Given the description of an element on the screen output the (x, y) to click on. 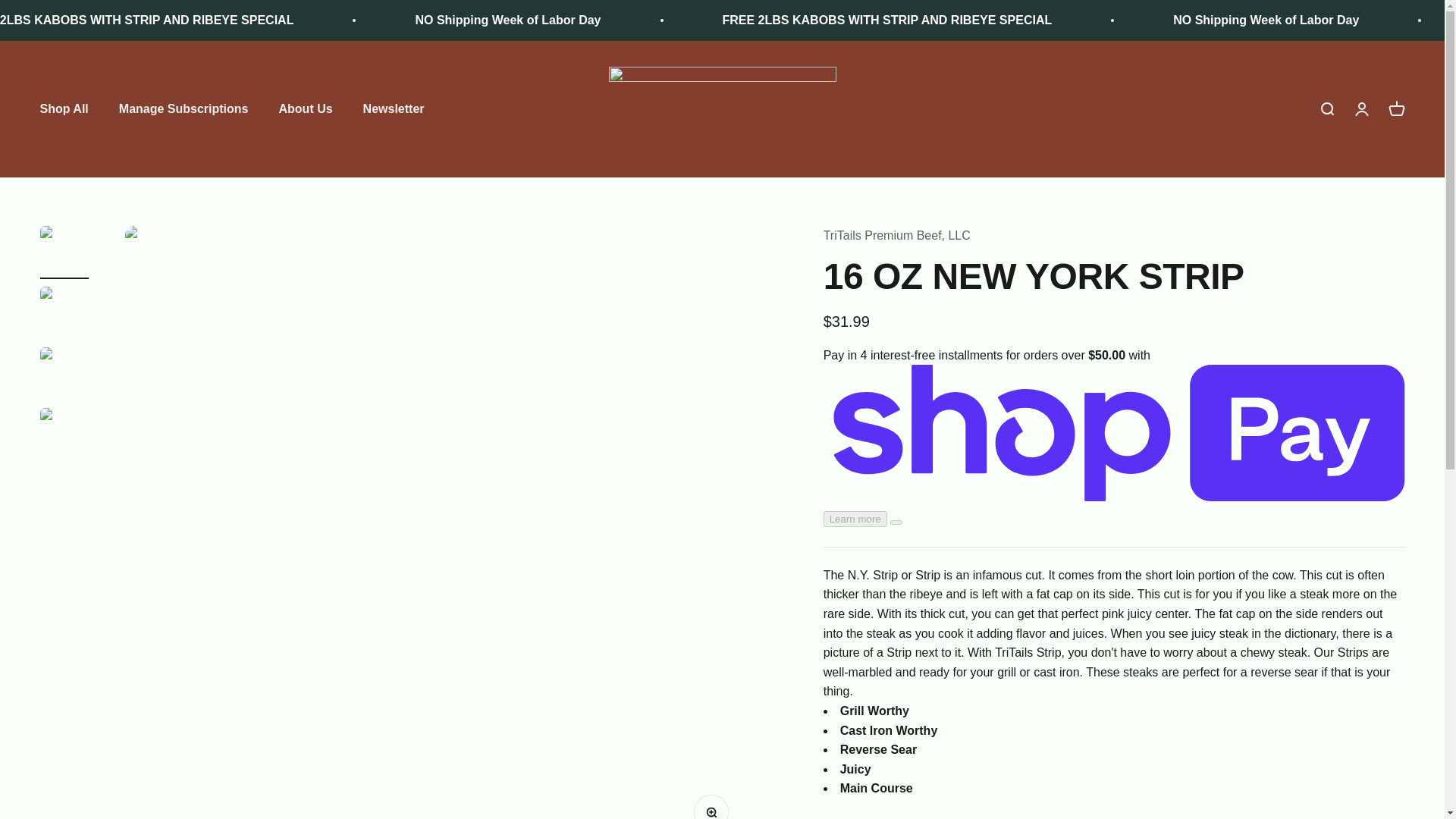
NO Shipping Week of Labor Day (506, 19)
Open cart (1396, 108)
Shop All (63, 108)
NO Shipping Week of Labor Day (1265, 19)
About Us (306, 108)
Zoom (715, 806)
Open search (1326, 108)
TriTails Premium Beef, LLC (721, 108)
Manage Subscriptions (183, 108)
Newsletter (393, 108)
